Given the description of an element on the screen output the (x, y) to click on. 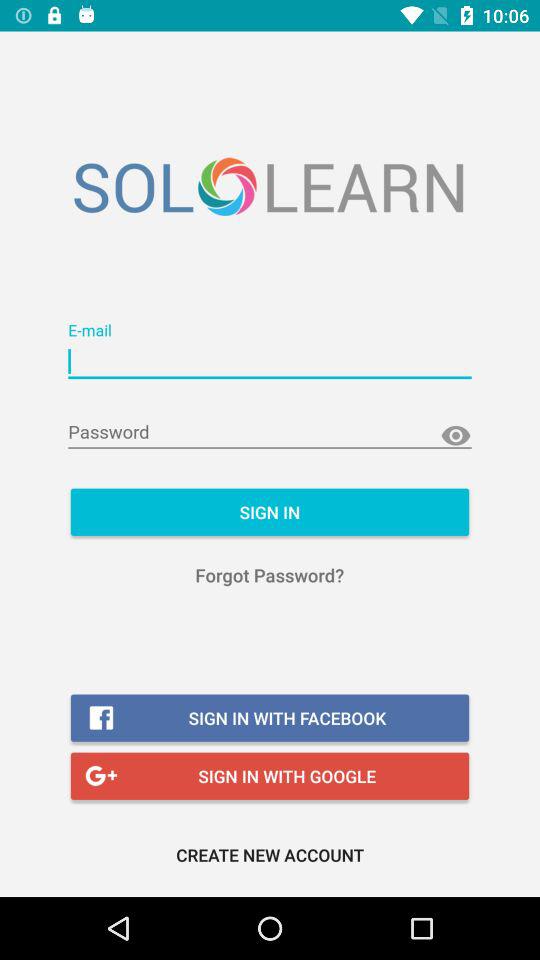
show password (456, 435)
